Given the description of an element on the screen output the (x, y) to click on. 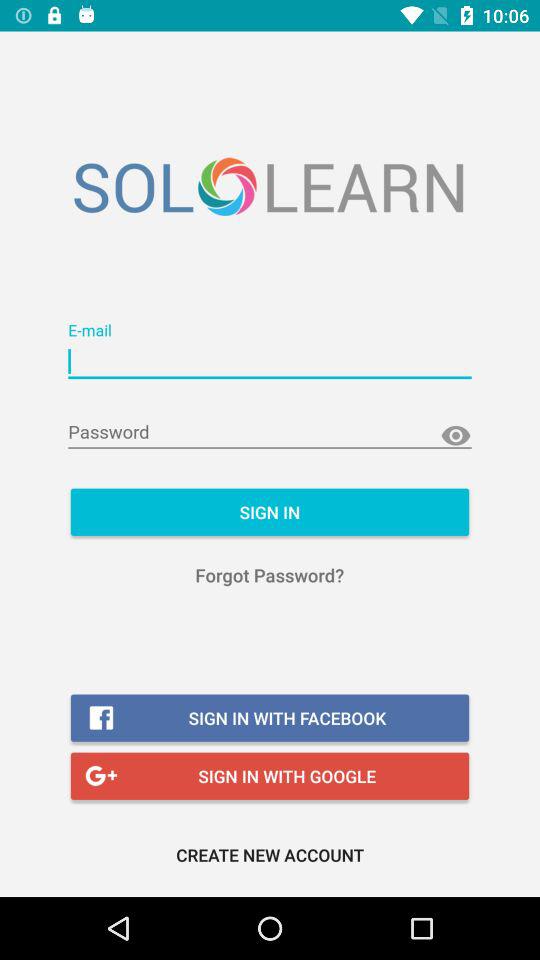
show password (456, 435)
